Given the description of an element on the screen output the (x, y) to click on. 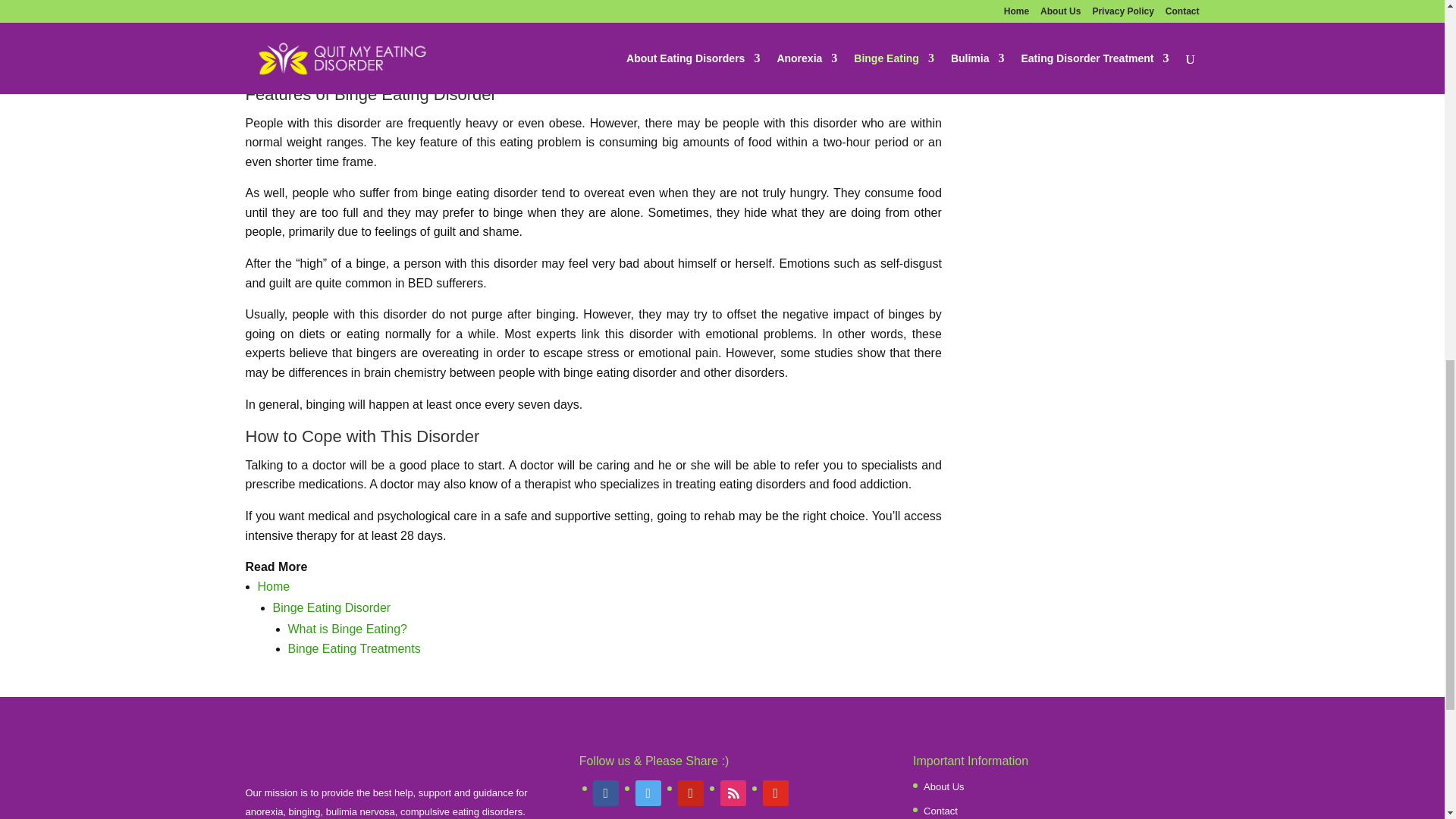
Default Label (690, 791)
The Importance of An EDNOS Test (1020, 12)
Twitter (647, 791)
Search (1174, 74)
Instagram (732, 791)
Facebook (605, 791)
